Given the description of an element on the screen output the (x, y) to click on. 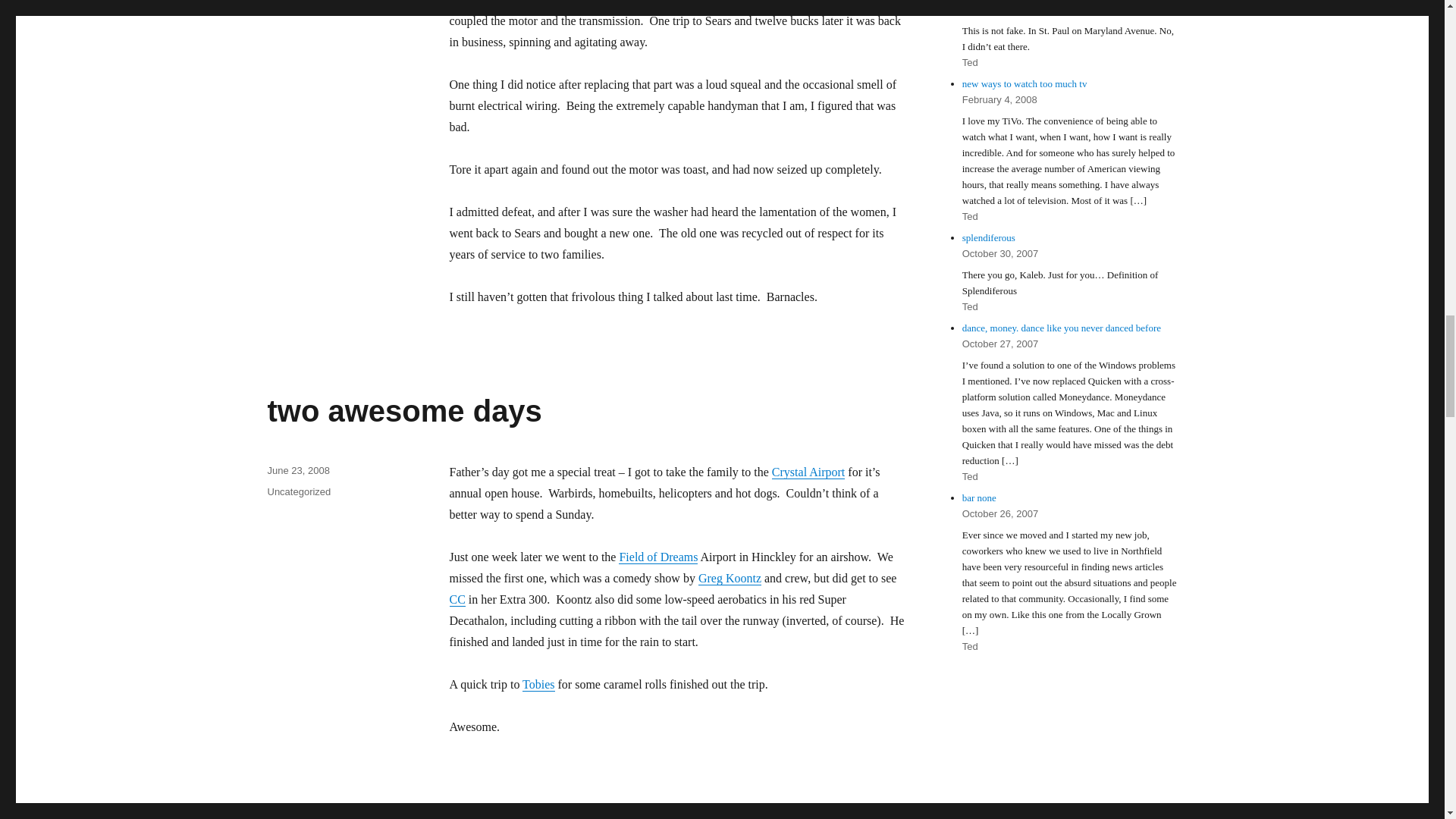
Crystal Airport (807, 472)
two awesome days (403, 410)
Field of Dreams (657, 556)
CC (456, 599)
June 23, 2008 (297, 470)
Tobies (538, 684)
Uncategorized (298, 491)
Greg Koontz (729, 577)
